Given the description of an element on the screen output the (x, y) to click on. 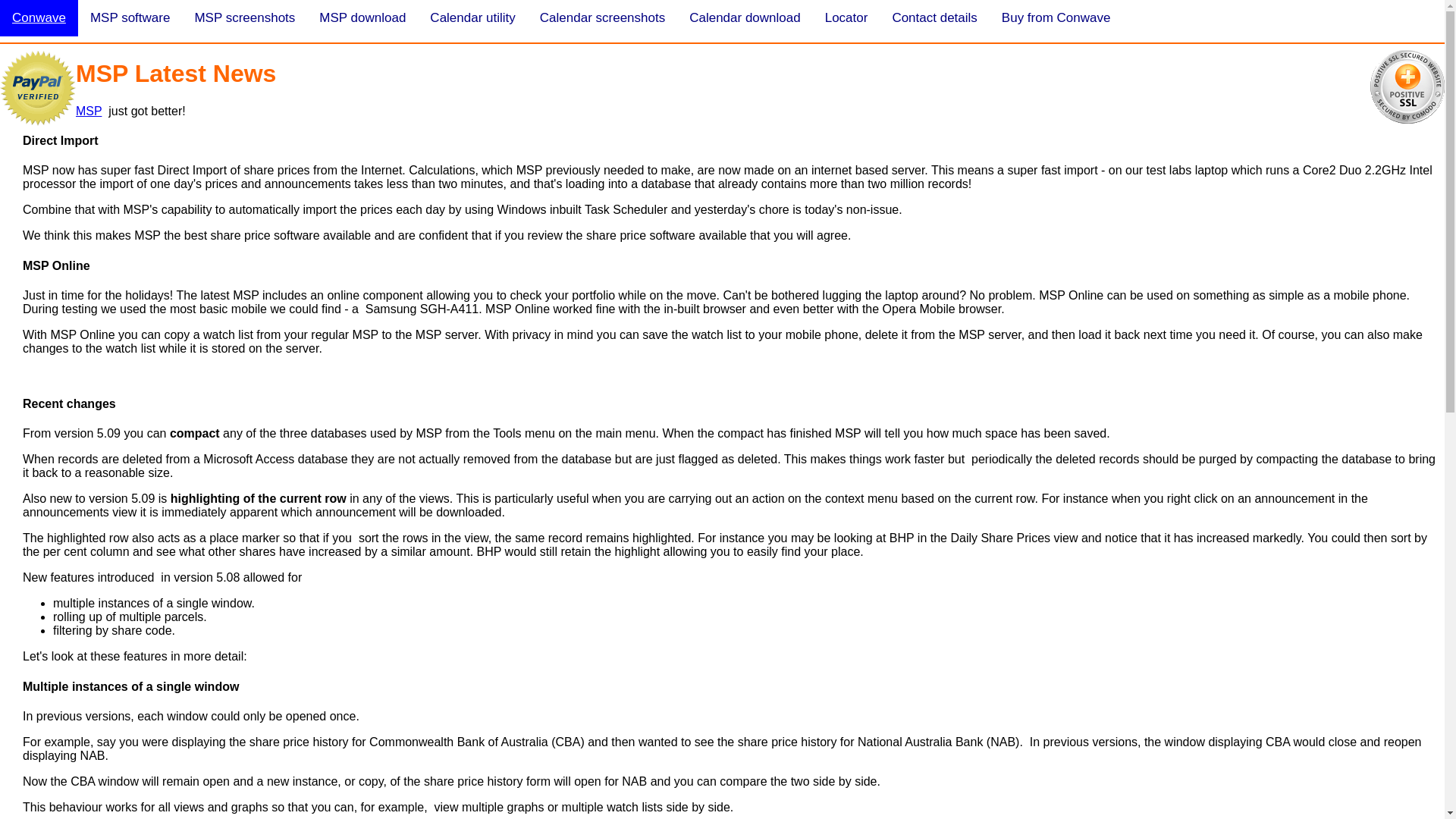
Calendar screenshots Element type: text (602, 18)
Contact details Element type: text (933, 18)
Conwave Element type: text (39, 18)
Calendar download Element type: text (744, 18)
Locator Element type: text (846, 18)
Calendar utility Element type: text (472, 18)
MSP download Element type: text (362, 18)
MSP Element type: text (88, 110)
Buy from Conwave Element type: text (1056, 18)
MSP software Element type: text (130, 18)
MSP screenshots Element type: text (244, 18)
SSL Certificate Element type: hover (1407, 86)
